Given the description of an element on the screen output the (x, y) to click on. 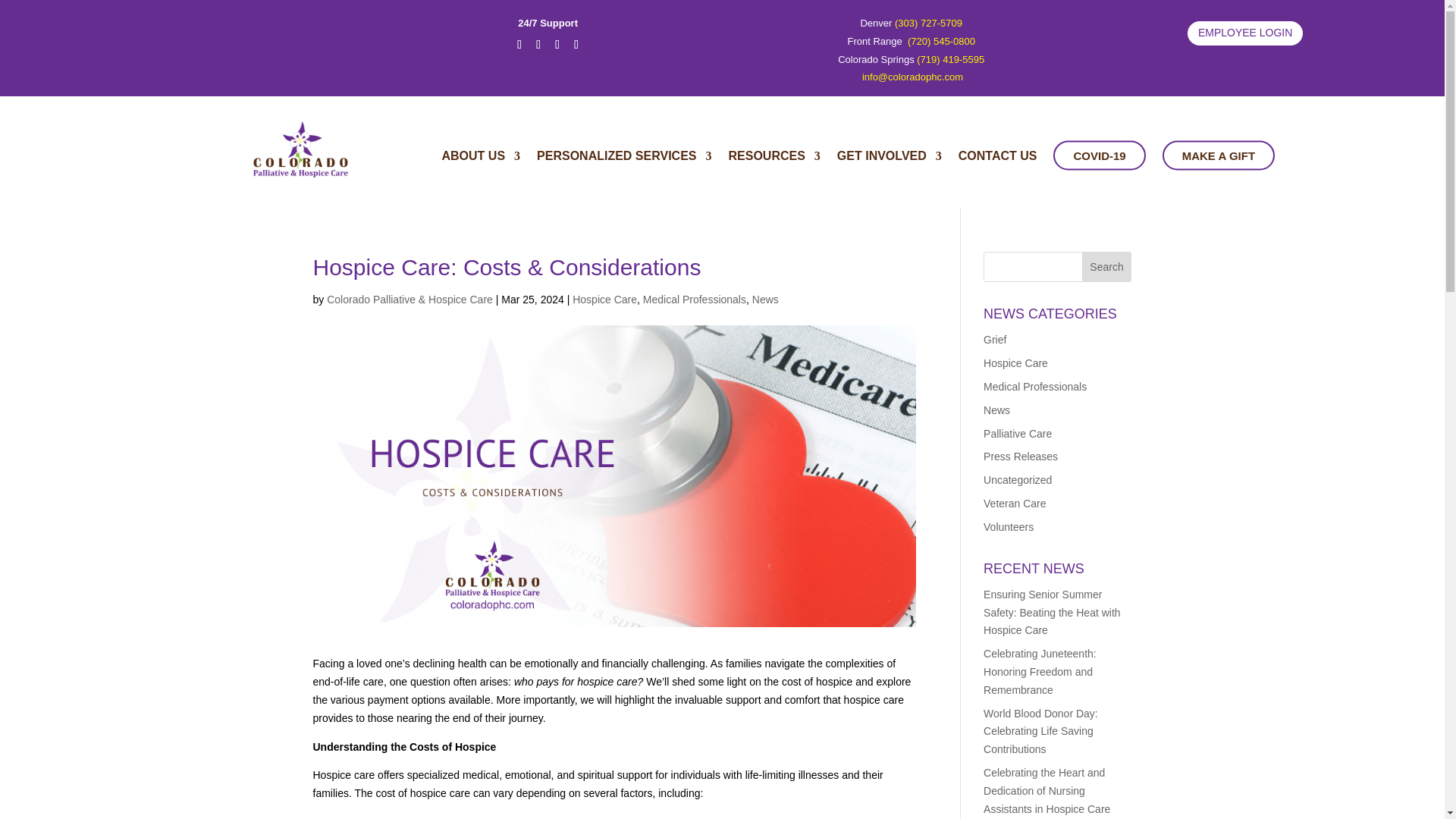
RESOURCES (773, 165)
Follow on Instagram (556, 44)
EMPLOYEE LOGIN (1245, 33)
Follow on Facebook (518, 44)
COVID-19 (1098, 155)
Follow on LinkedIn (576, 44)
ABOUT US (480, 165)
PERSONALIZED SERVICES (624, 165)
ColoradoColor (316, 159)
CONTACT US (997, 165)
